Given the description of an element on the screen output the (x, y) to click on. 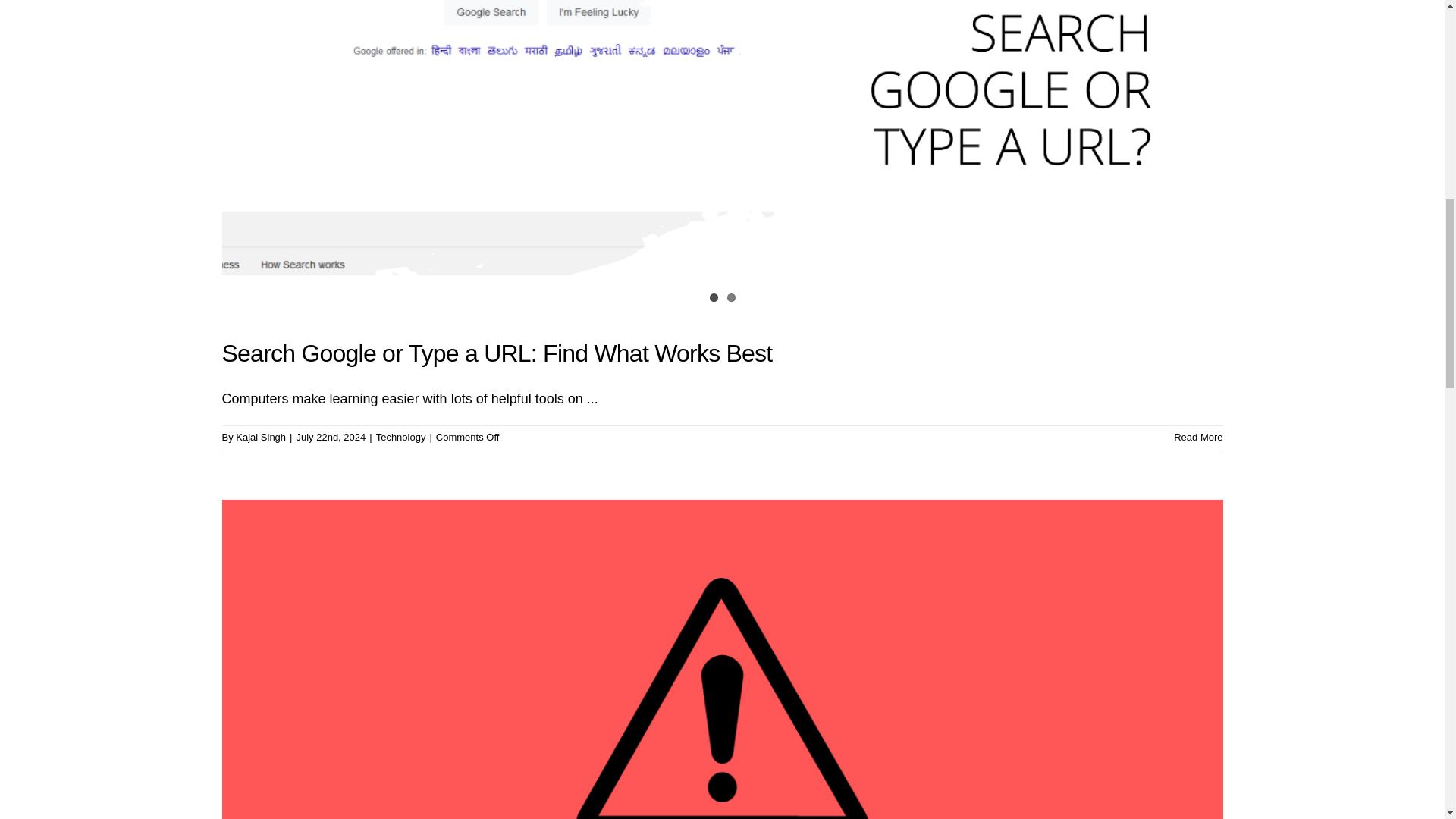
Posts by Kajal Singh (260, 437)
